Given the description of an element on the screen output the (x, y) to click on. 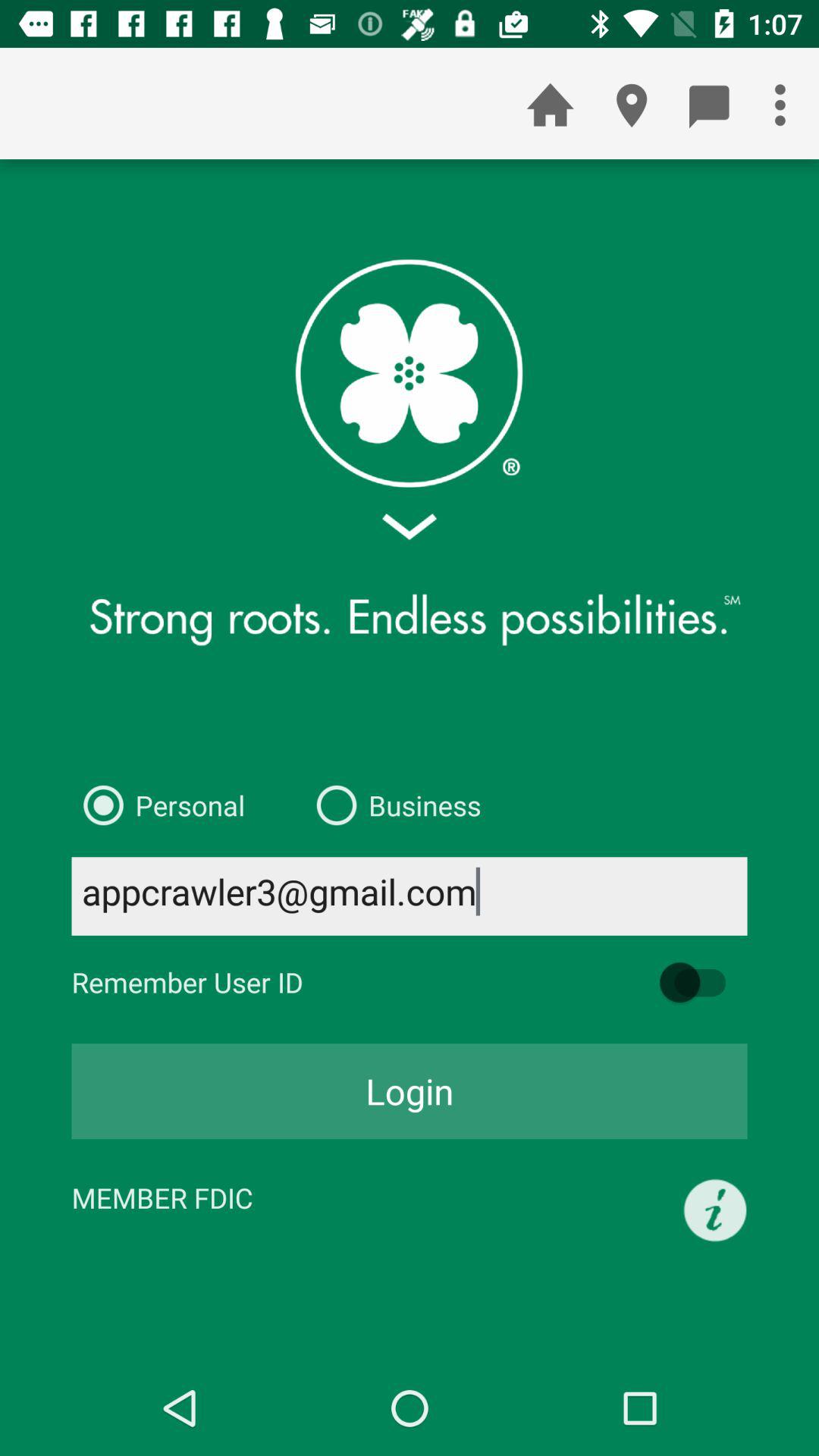
open icon next to personal item (392, 805)
